Given the description of an element on the screen output the (x, y) to click on. 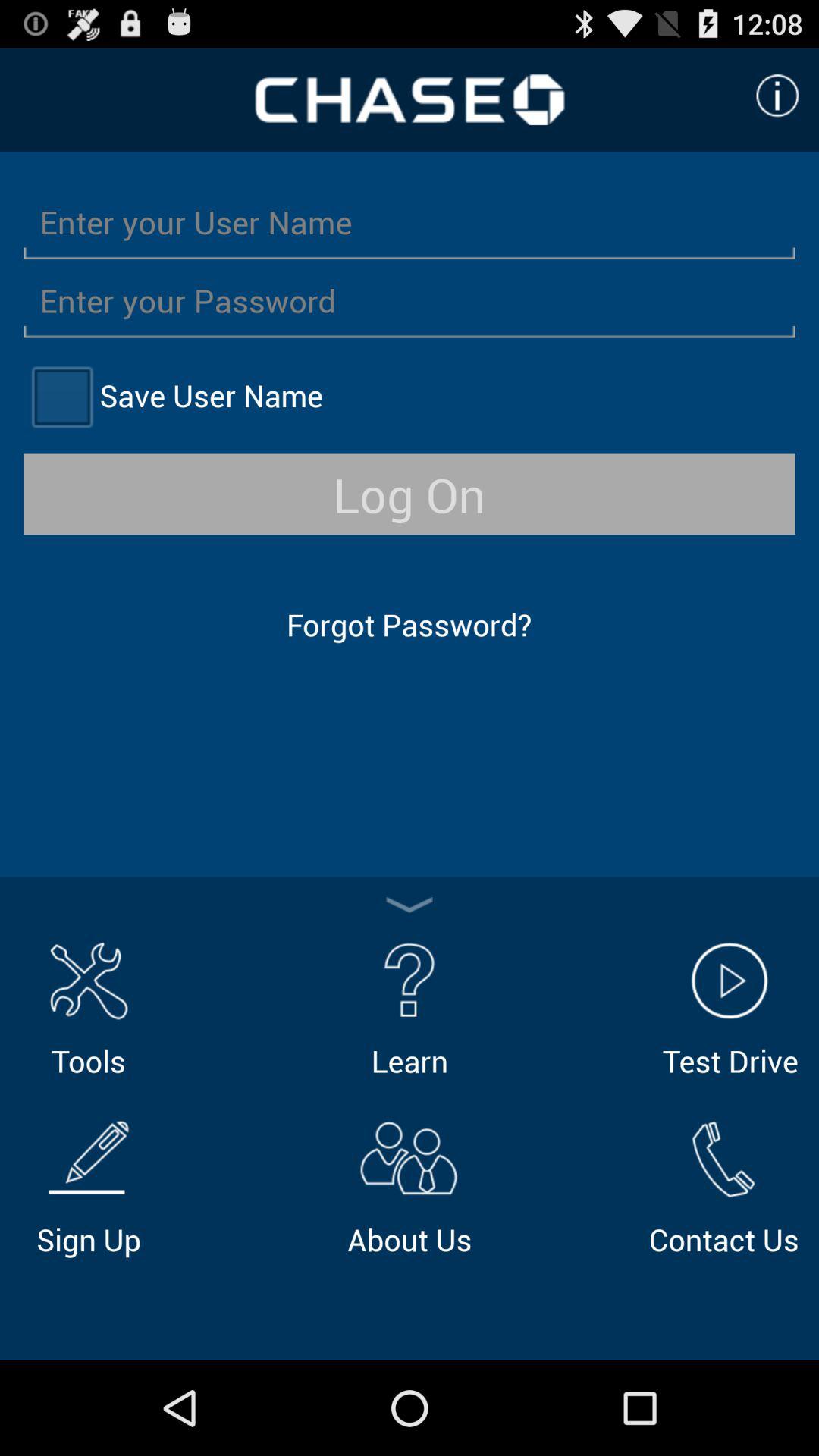
open icon below learn icon (409, 1185)
